Given the description of an element on the screen output the (x, y) to click on. 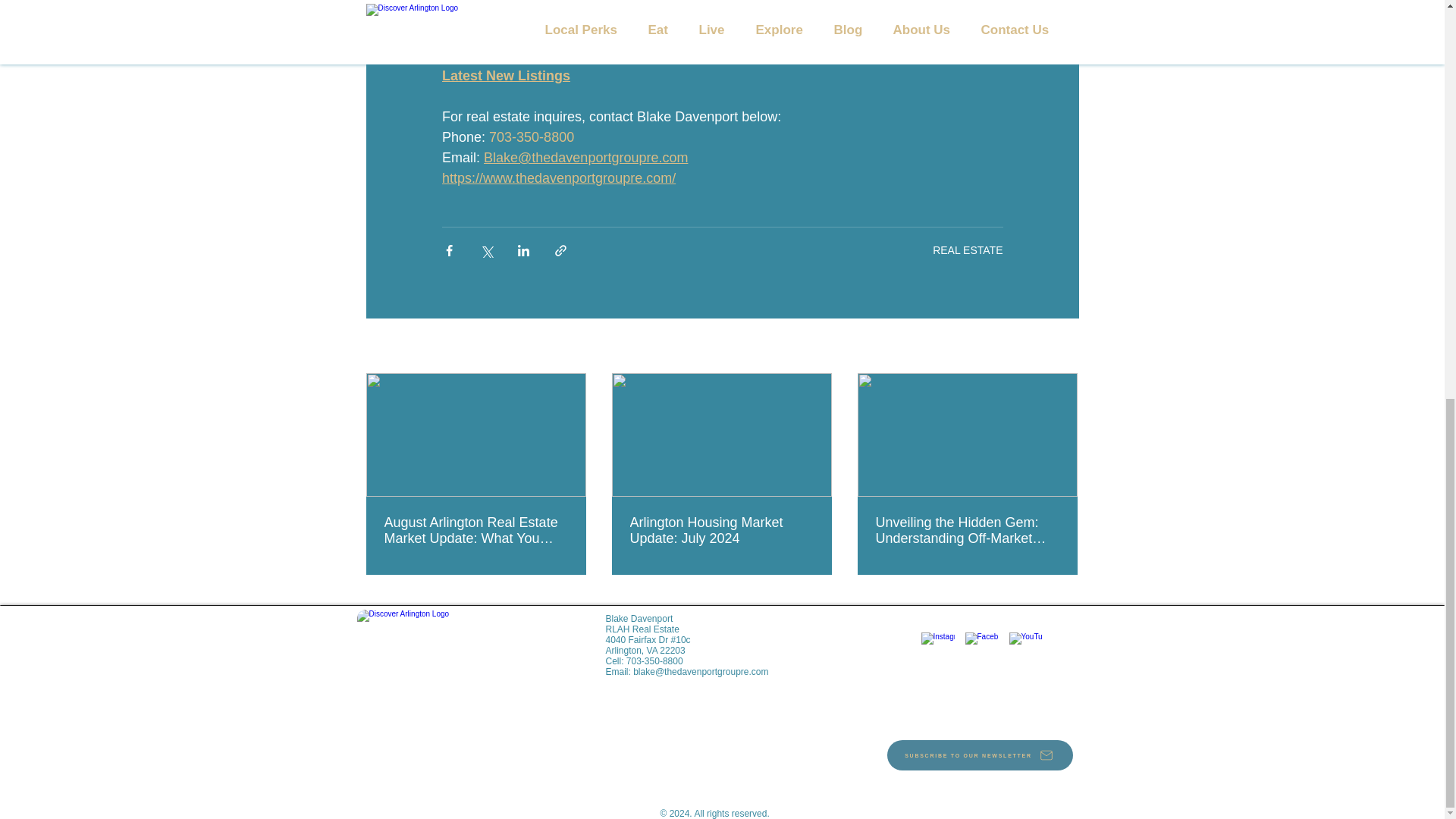
Podcast Audio (488, 0)
Real Estate Tips Playlist (519, 34)
Latest New Listings (505, 75)
